Given the description of an element on the screen output the (x, y) to click on. 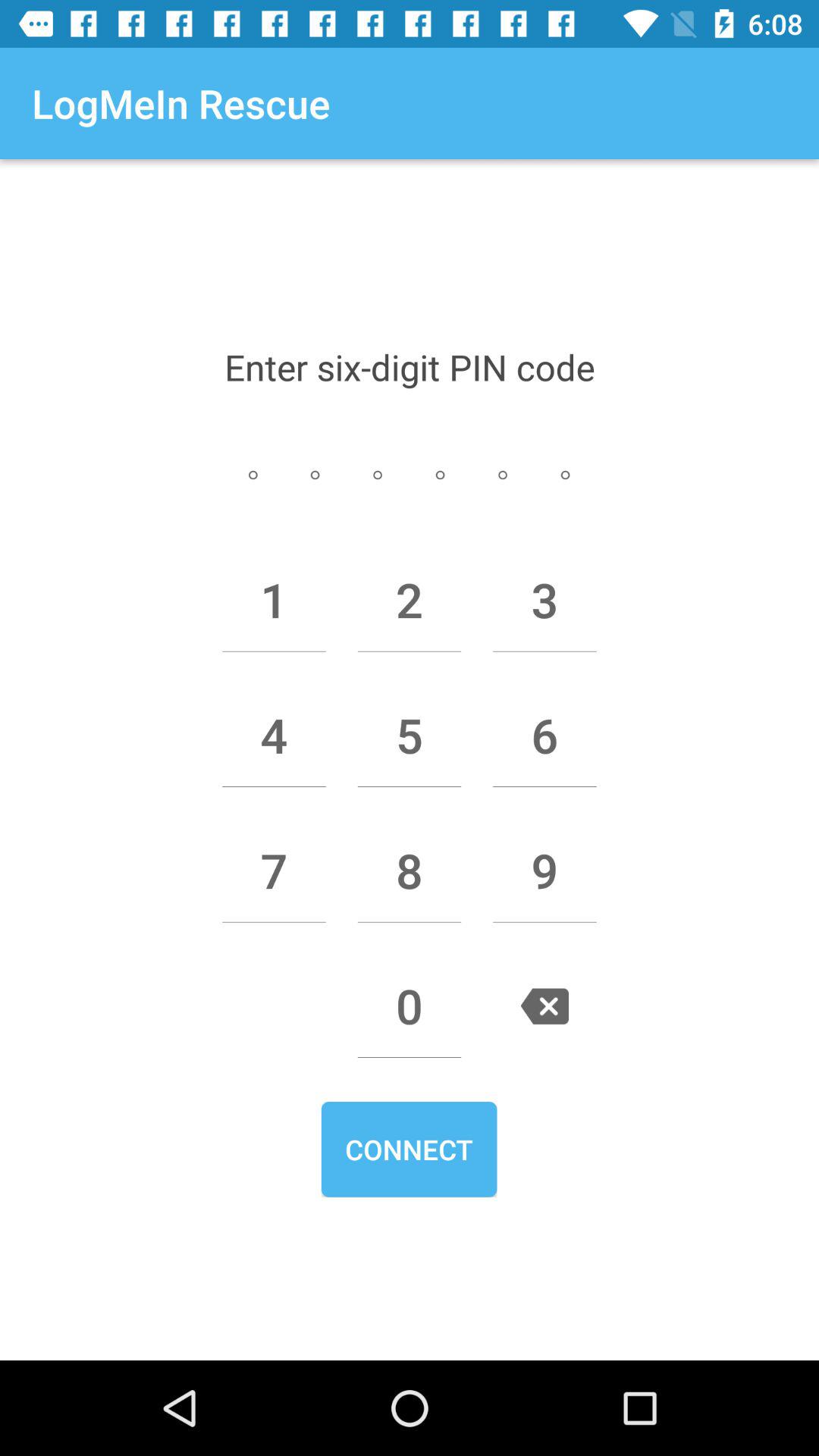
turn off the item next to 0 (544, 1005)
